Given the description of an element on the screen output the (x, y) to click on. 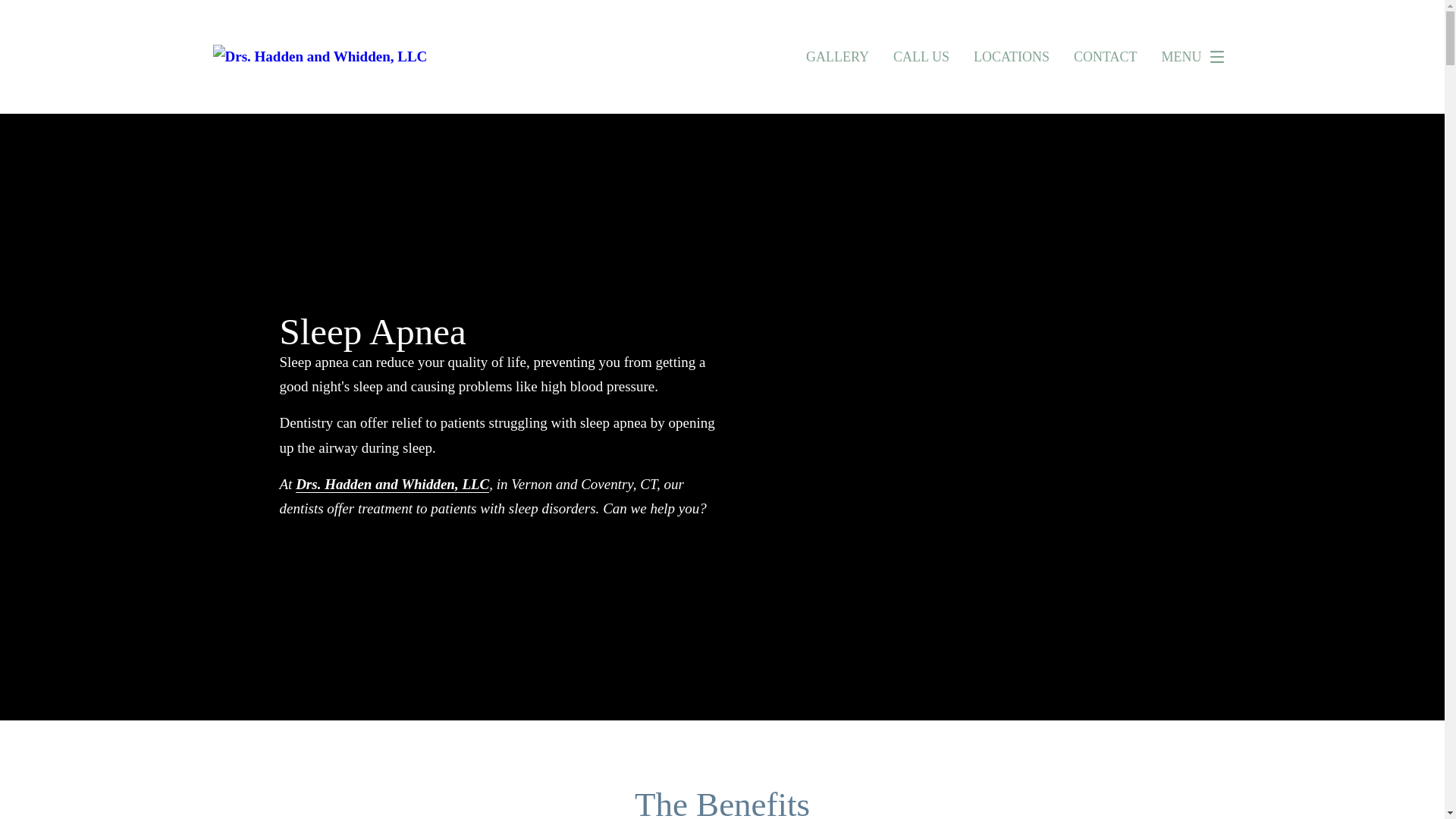
CALL US (921, 56)
CONTACT (1105, 56)
LOCATIONS (1011, 56)
Drs. Hadden and Whidden, LLC (392, 484)
GALLERY (837, 56)
MENU (1196, 56)
